Given the description of an element on the screen output the (x, y) to click on. 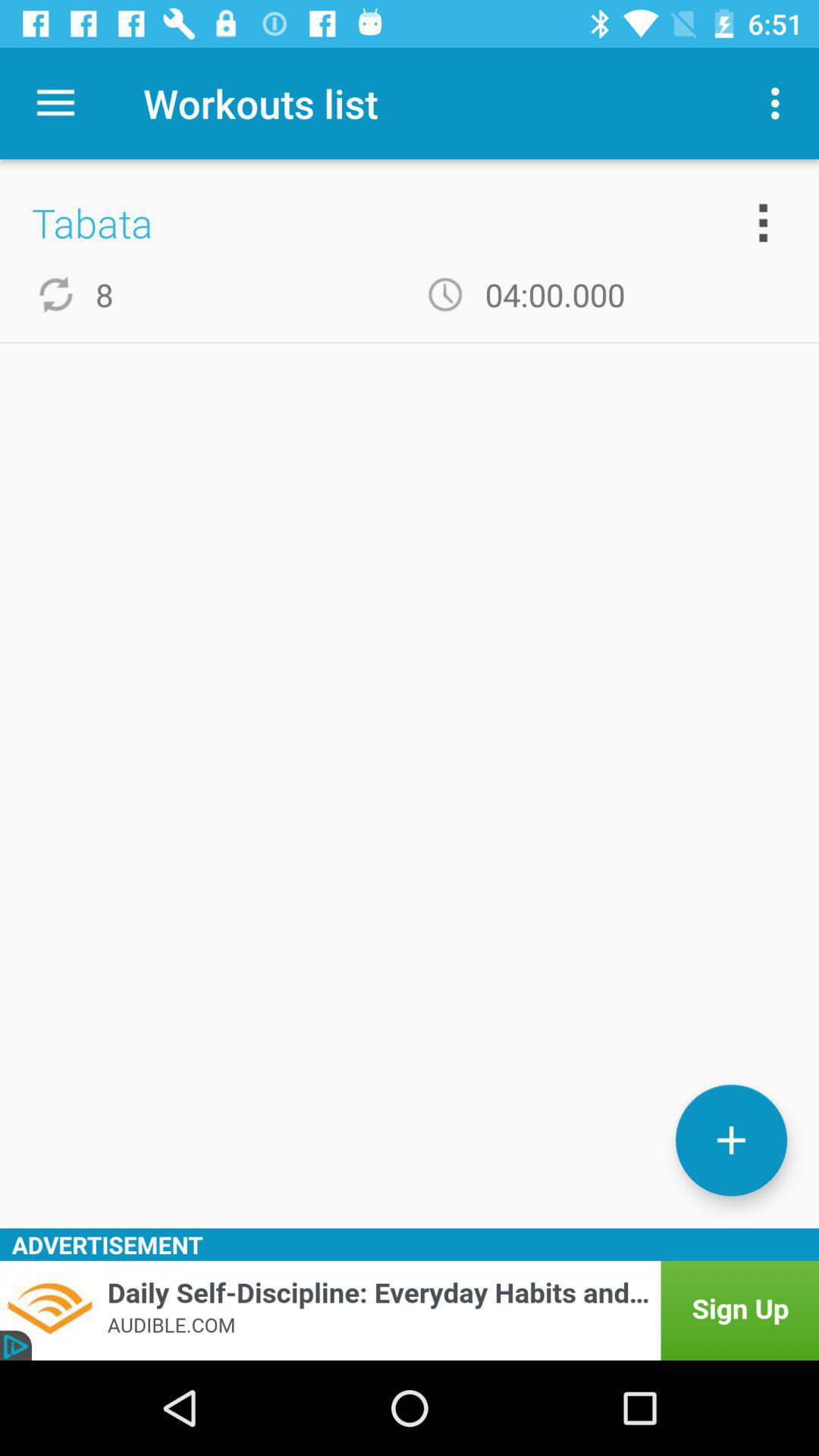
tap the app to the right of workouts list item (779, 103)
